Given the description of an element on the screen output the (x, y) to click on. 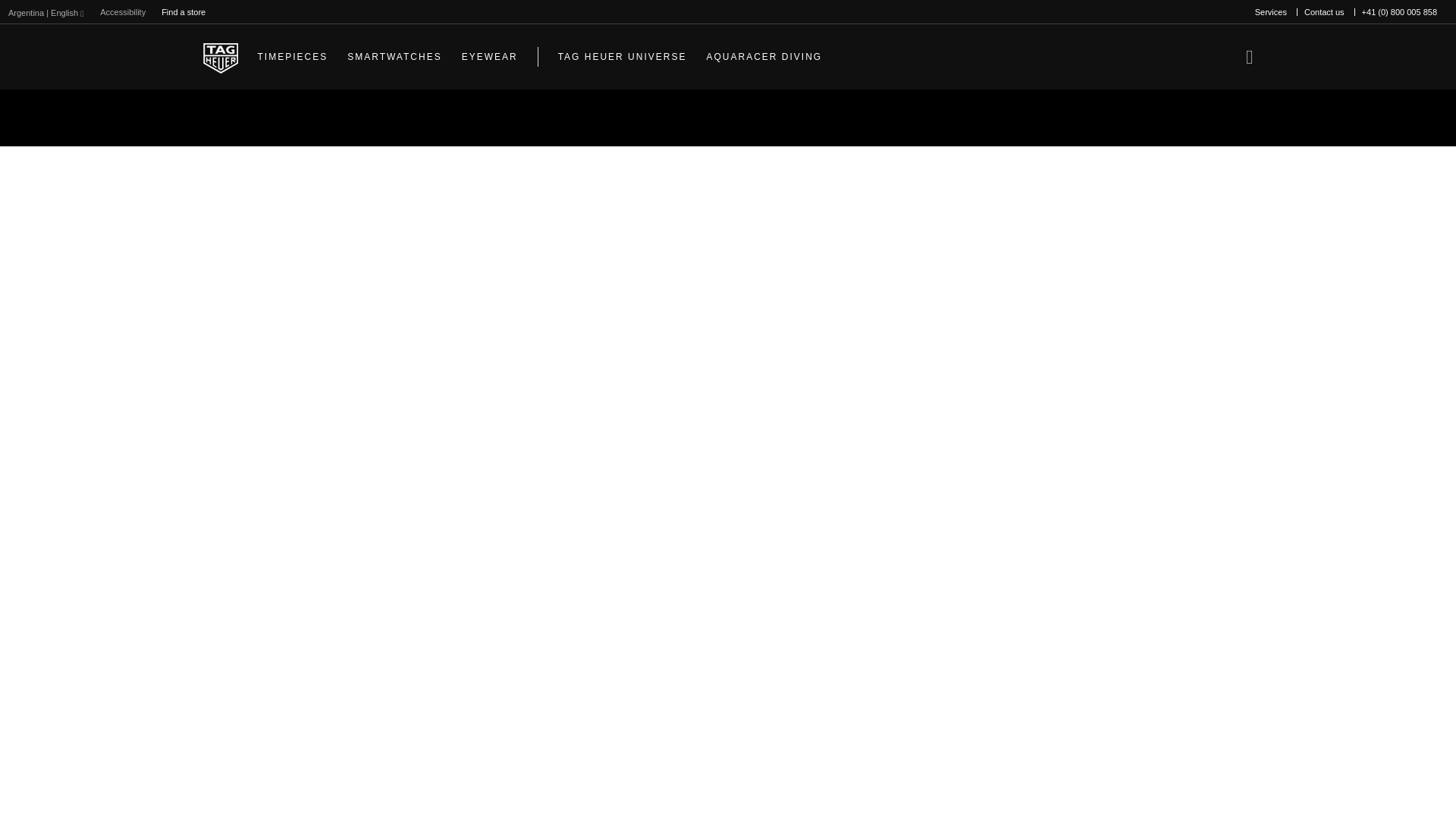
Find a store (183, 11)
TAG Heuer logo" (220, 56)
Services (1270, 12)
TIMEPIECES (293, 56)
Contact us (1324, 12)
Homepage (220, 56)
Accessibility (122, 12)
